Given the description of an element on the screen output the (x, y) to click on. 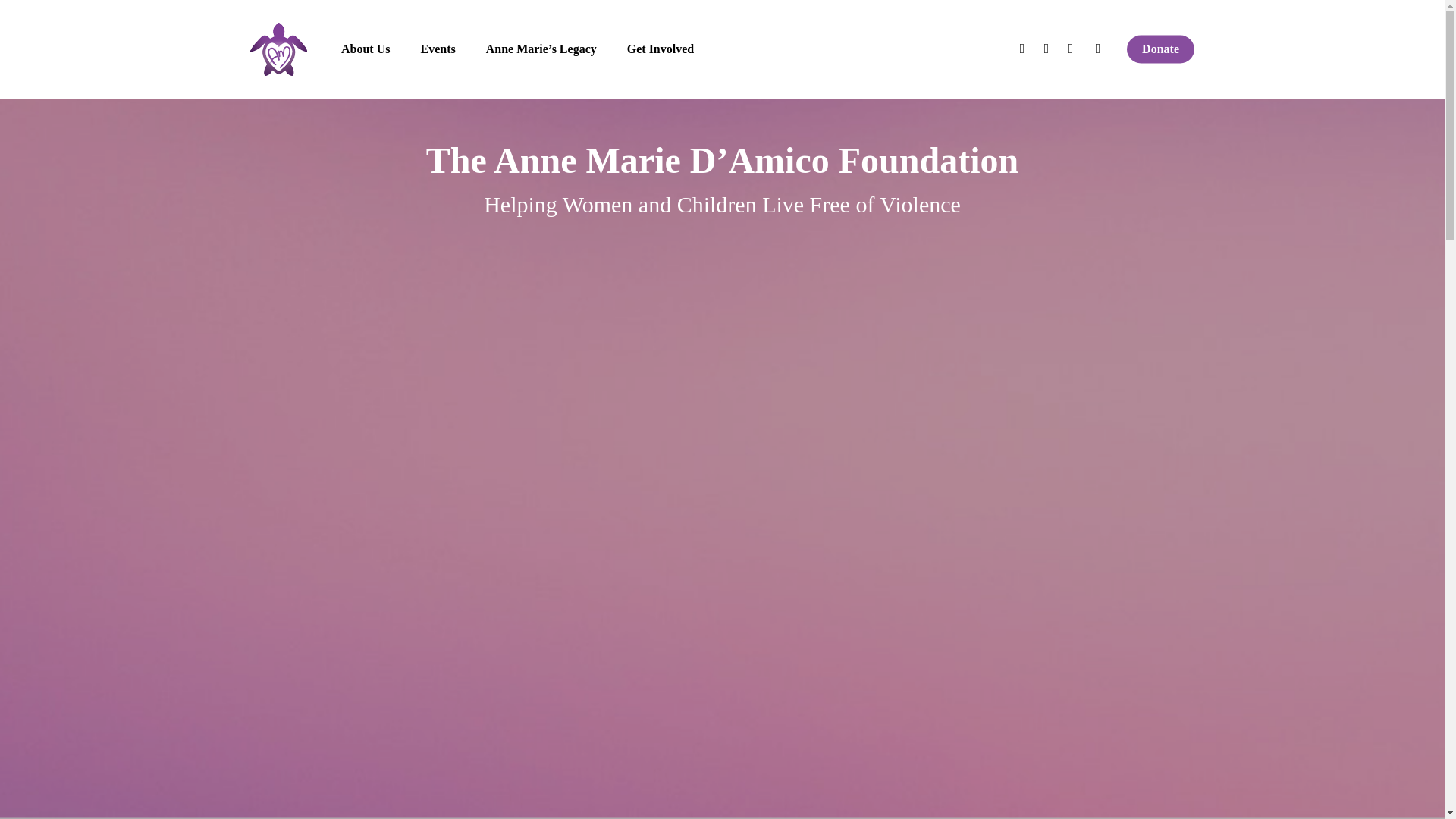
Instagram (1098, 48)
Facebook (1046, 48)
About Us (365, 49)
Donate (1159, 49)
Get Involved (660, 49)
Twitter (1022, 48)
Youtube (1070, 48)
Events (437, 49)
